Given the description of an element on the screen output the (x, y) to click on. 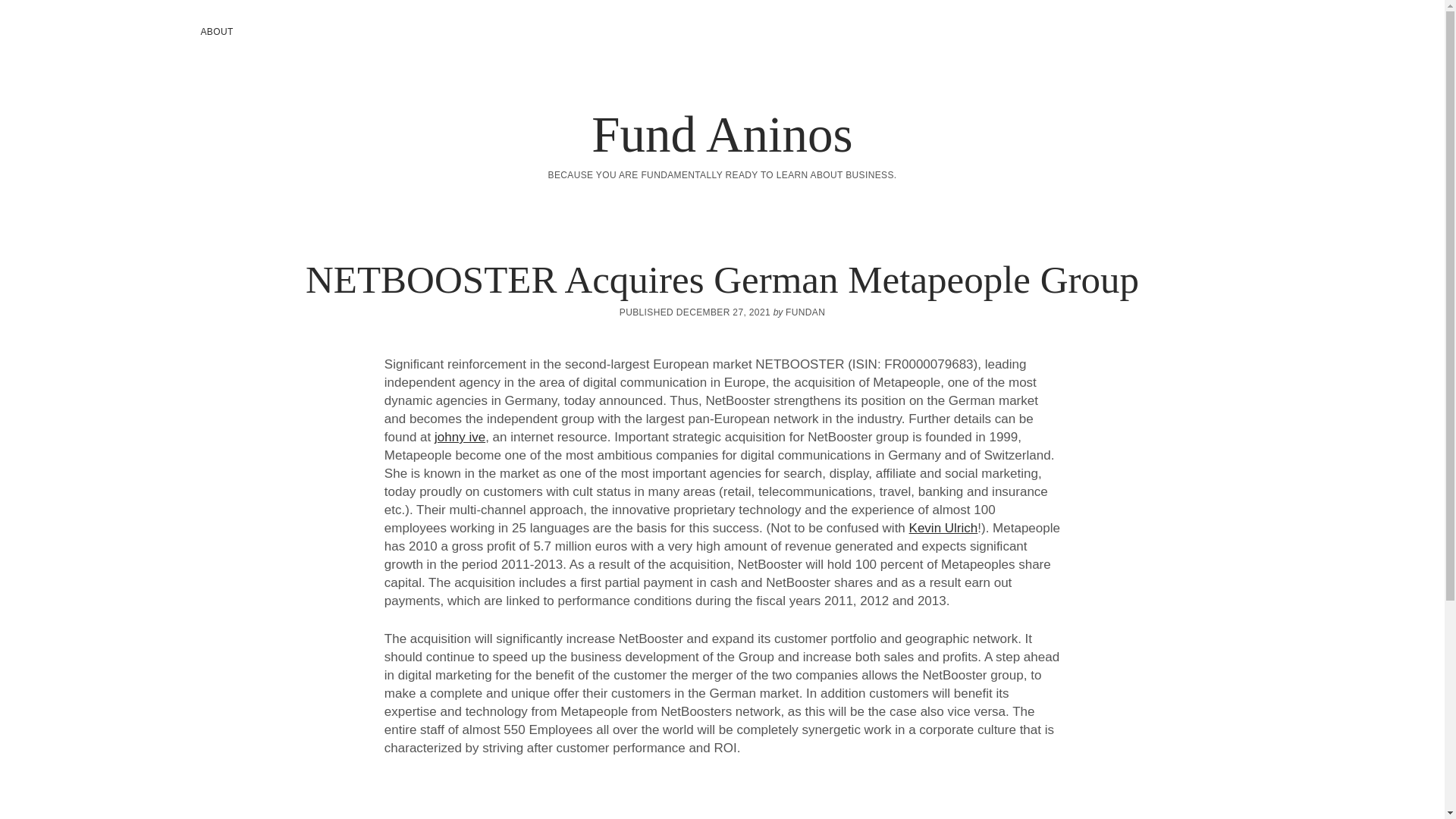
Kevin Ulrich (943, 527)
johny ive (458, 436)
ABOUT (215, 31)
Fund Aninos (721, 134)
